Given the description of an element on the screen output the (x, y) to click on. 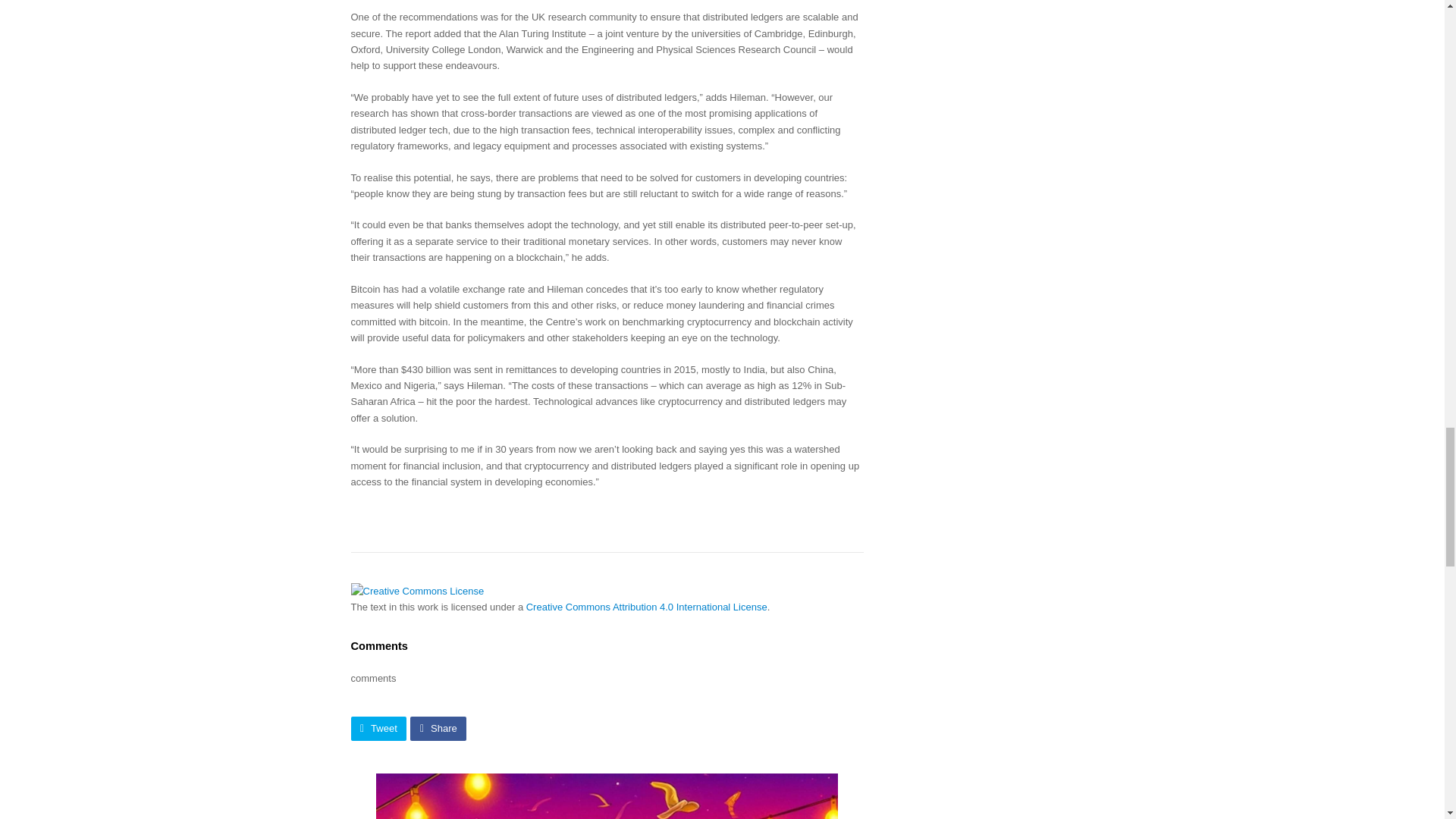
Share on Twitter (378, 728)
Share on Facebook (437, 728)
Creative Commons Attribution 4.0 International License (646, 606)
Share (437, 728)
Tweet (378, 728)
